Given the description of an element on the screen output the (x, y) to click on. 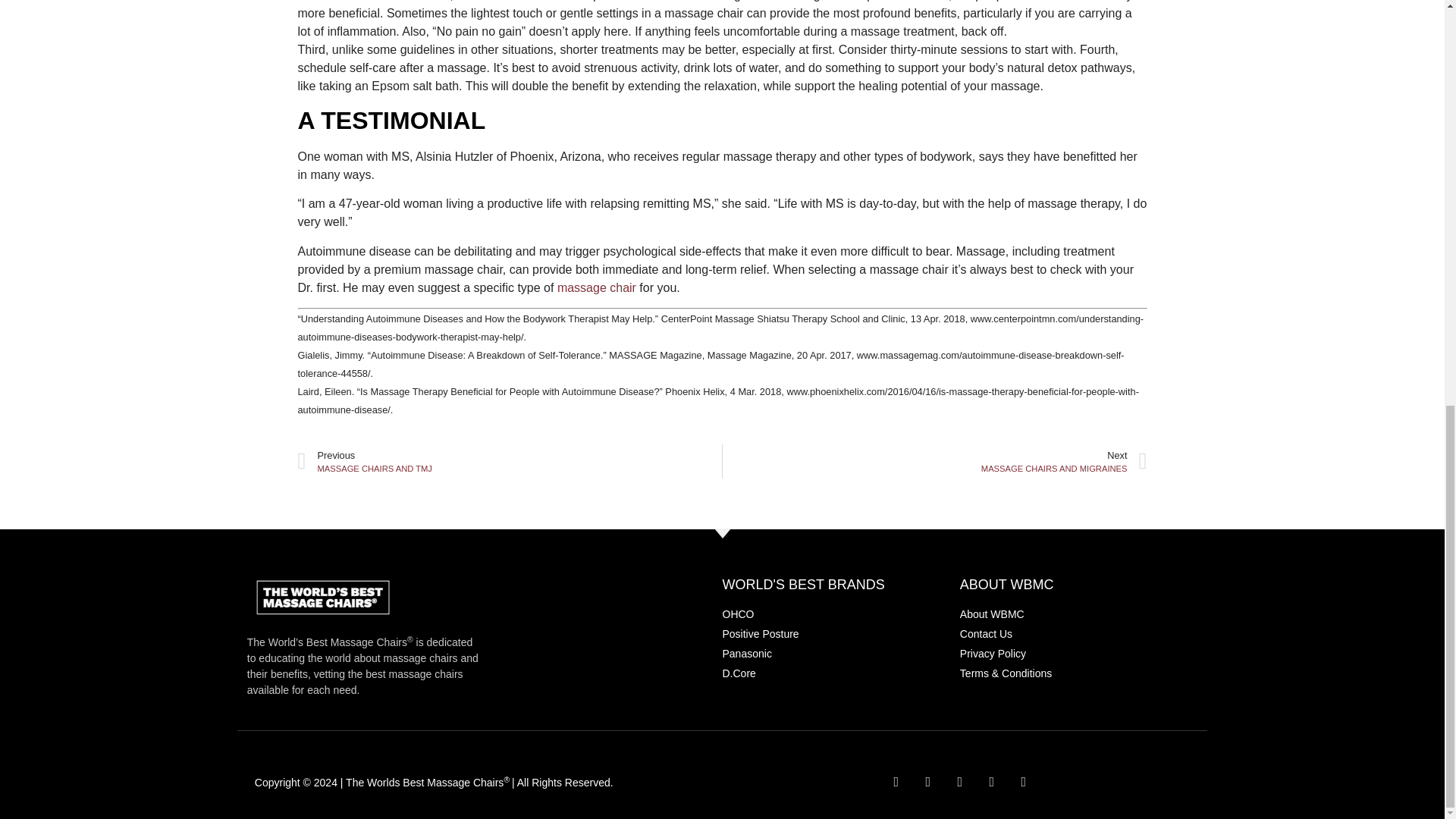
Opens in new window (927, 781)
Opens in new window (991, 781)
Opens in new window (959, 781)
Opens in new window (895, 781)
